Given the description of an element on the screen output the (x, y) to click on. 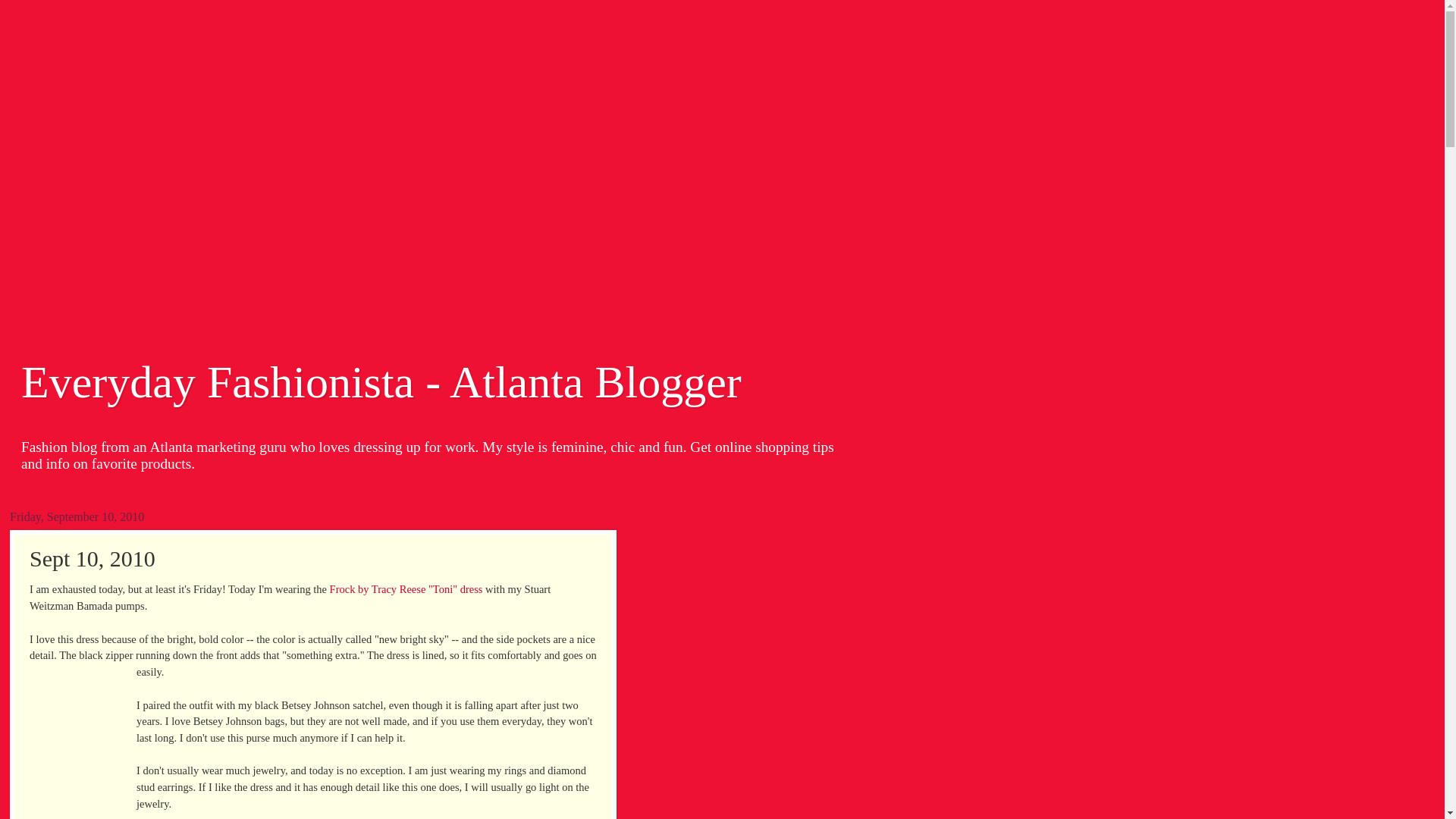
Frock by Tracy Reese "Toni" dress (406, 589)
Everyday Fashionista - Atlanta Blogger (381, 382)
